Given the description of an element on the screen output the (x, y) to click on. 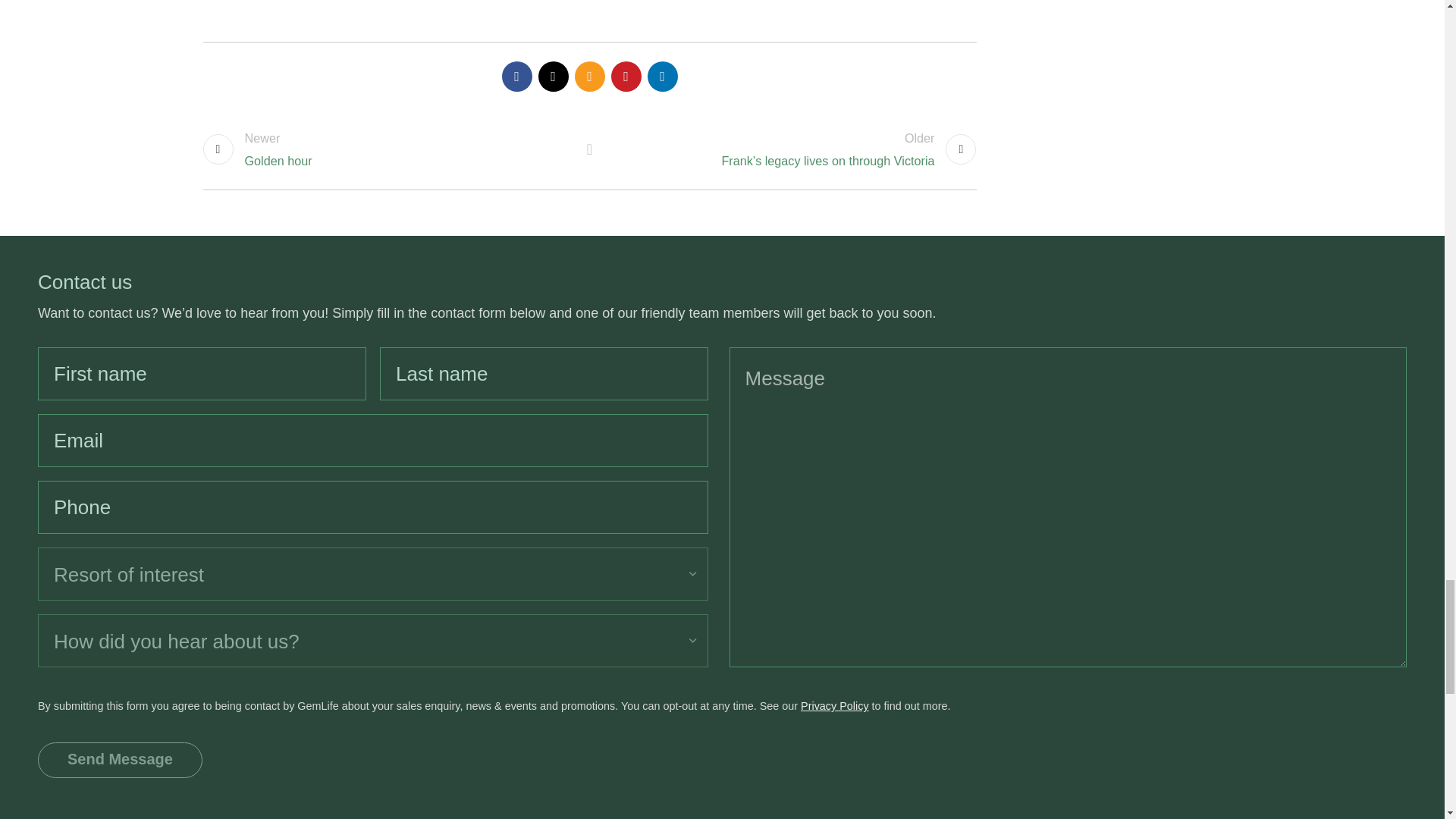
Send Message (119, 760)
